Given the description of an element on the screen output the (x, y) to click on. 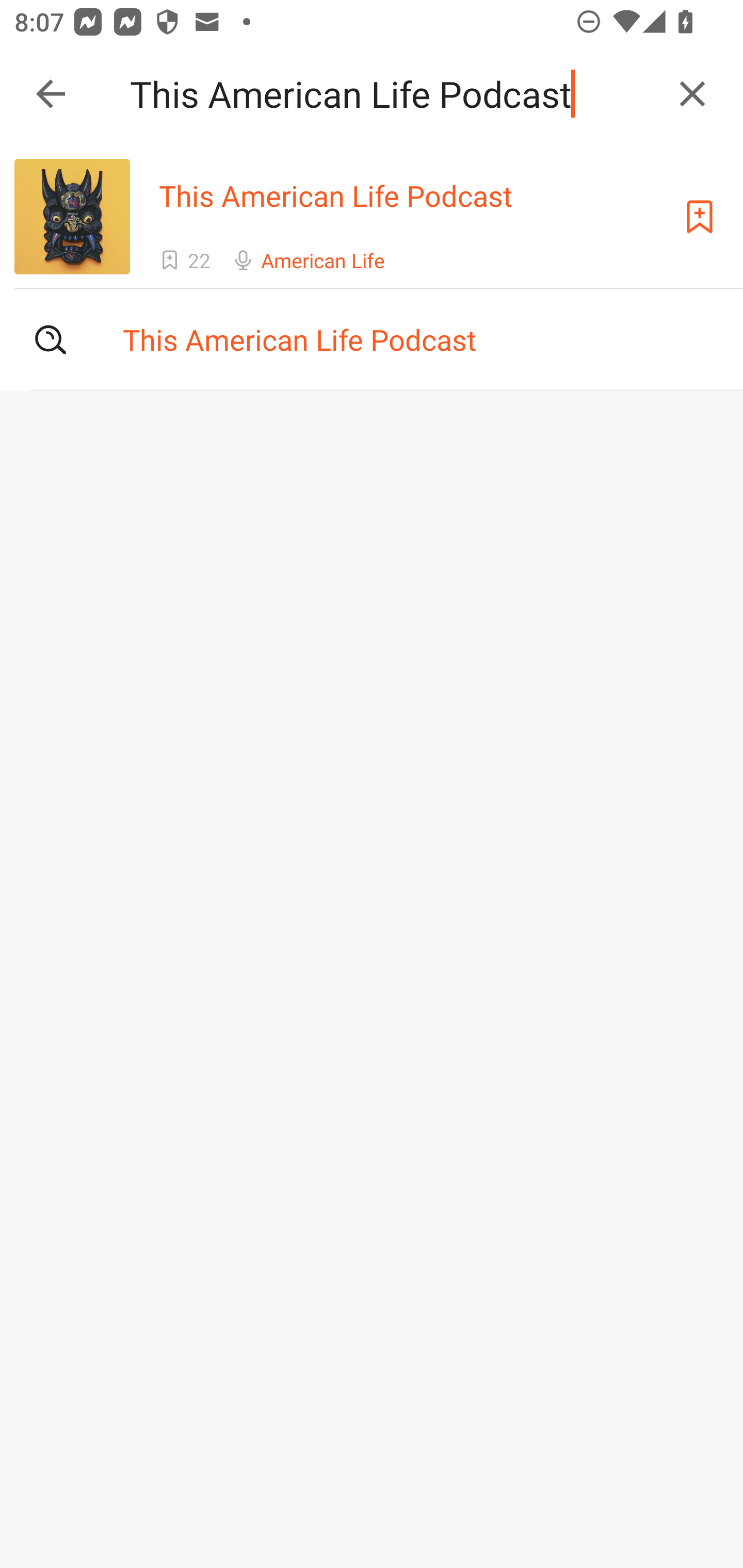
Collapse (50, 93)
Clear query (692, 93)
This American Life Podcast (393, 94)
Subscribe (699, 216)
 This American Life Podcast (371, 339)
